Given the description of an element on the screen output the (x, y) to click on. 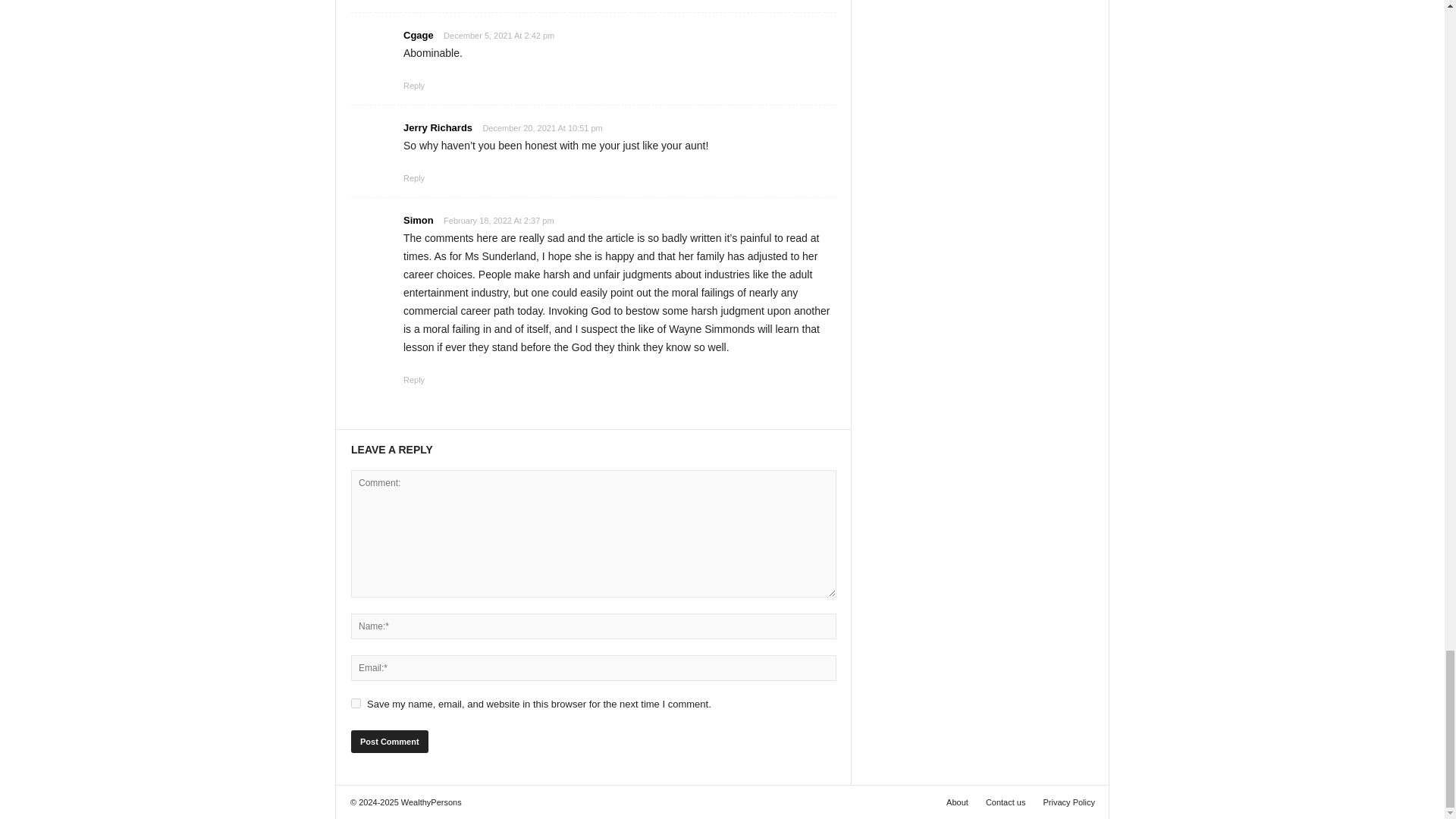
February 18, 2022 At 2:37 pm (499, 220)
yes (355, 703)
Reply (414, 85)
Reply (414, 379)
Post Comment (389, 741)
Reply (414, 177)
December 20, 2021 At 10:51 pm (541, 128)
Post Comment (389, 741)
December 5, 2021 At 2:42 pm (499, 35)
